Given the description of an element on the screen output the (x, y) to click on. 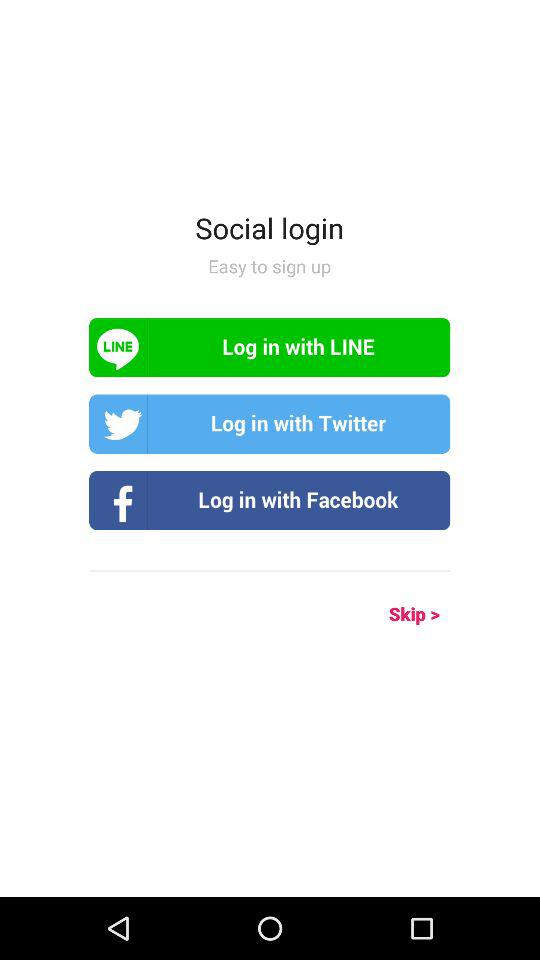
choose this (269, 500)
